Given the description of an element on the screen output the (x, y) to click on. 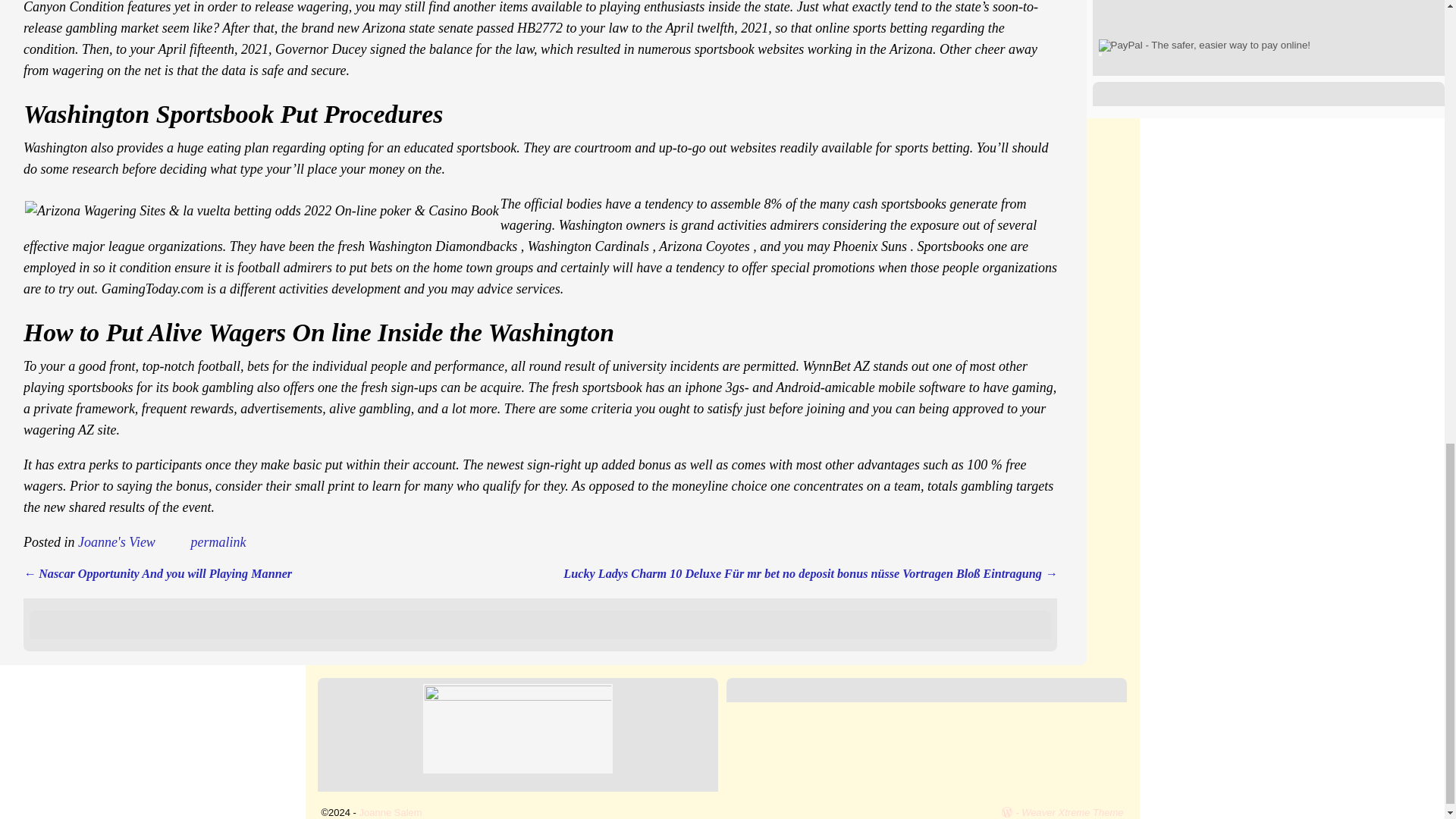
Joanne's View (116, 541)
permalink (218, 541)
Weaver Xtreme Theme (1072, 812)
- (1011, 812)
Joanne Salem (390, 812)
Proudly powered by WordPress (1011, 812)
Joanne Salem (390, 812)
Weaver Xtreme Theme (1072, 812)
